Given the description of an element on the screen output the (x, y) to click on. 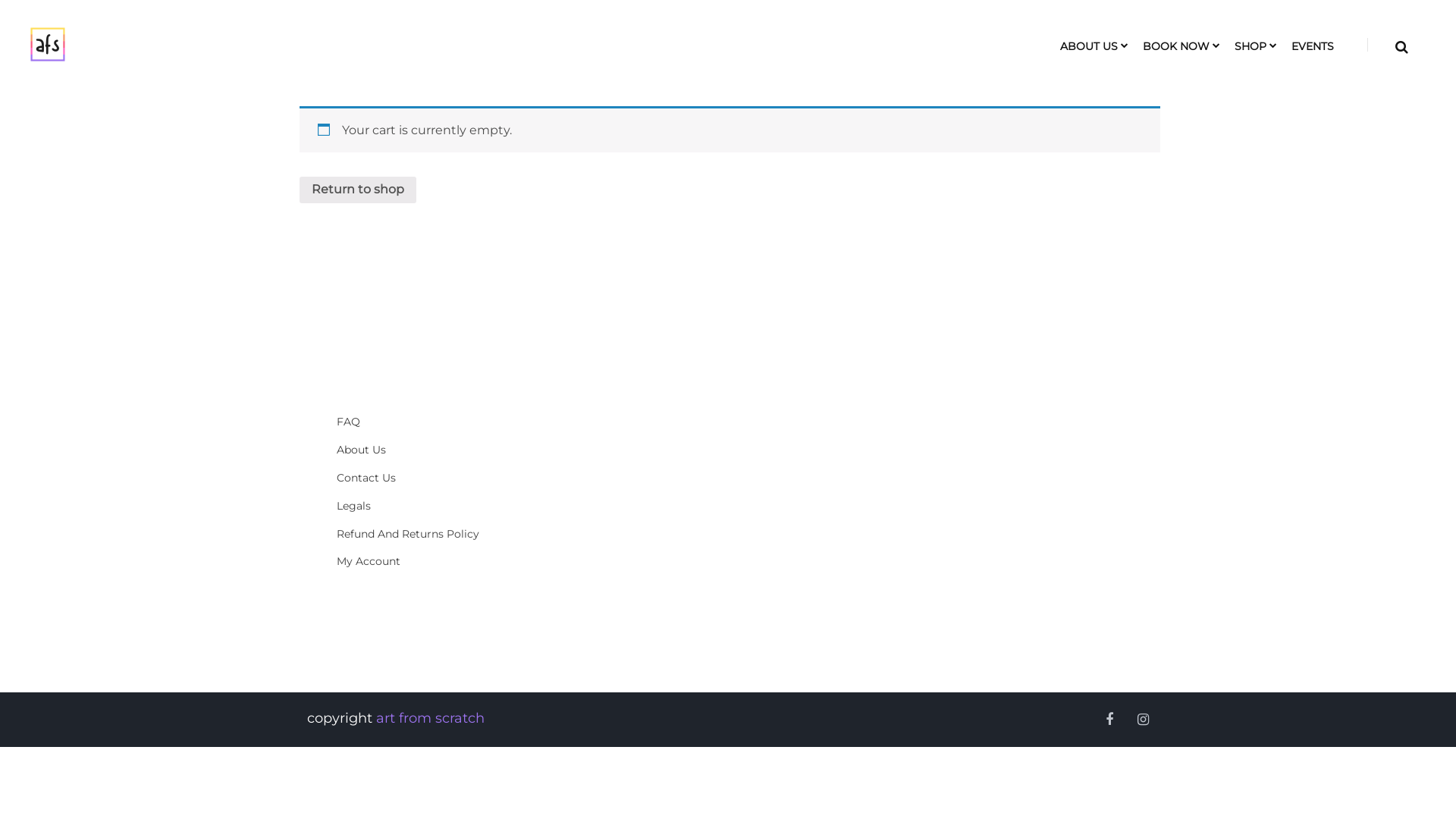
Search Element type: text (1092, 406)
BOOK NOW Element type: text (1176, 46)
EVENTS Element type: text (1312, 46)
ABOUT US Element type: text (1088, 46)
SHOP Element type: text (1250, 46)
FAQ Element type: text (416, 421)
Contact Us Element type: text (416, 477)
Return to shop Element type: text (357, 189)
My Account Element type: text (416, 561)
art from scratch Element type: text (430, 717)
About Us Element type: text (416, 449)
Legals Element type: text (416, 505)
Refund And Returns Policy Element type: text (416, 534)
